Given the description of an element on the screen output the (x, y) to click on. 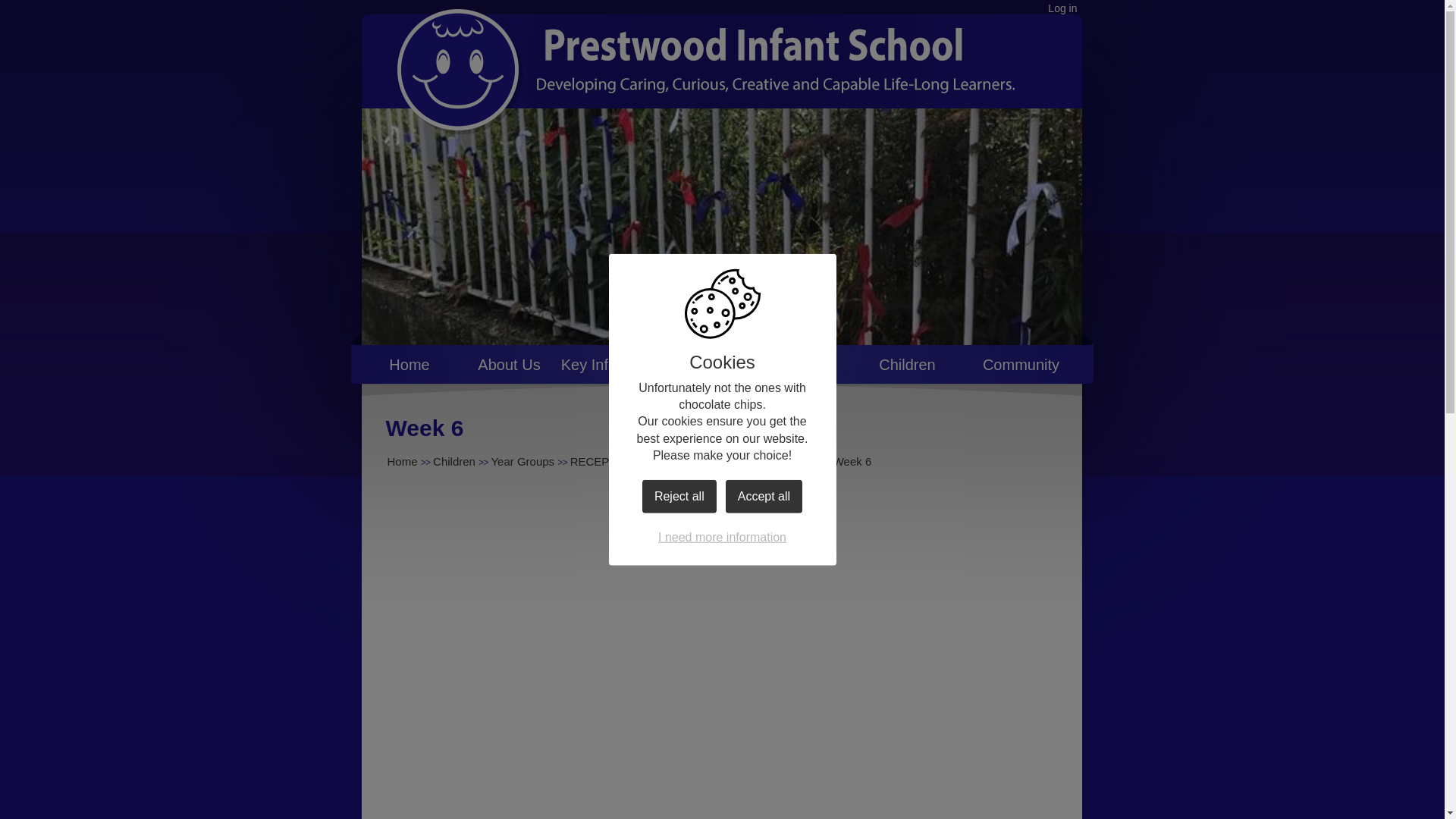
About Us (509, 368)
Home (409, 368)
RECEPTION - EYFS (623, 461)
Children (454, 461)
Log in (1062, 8)
Key Information and Policies (657, 368)
Week 6 (852, 461)
Home Page (753, 61)
Year Groups (522, 461)
Autumn 1 Marvellous Me (753, 461)
Home Page (753, 61)
Home (401, 461)
